Given the description of an element on the screen output the (x, y) to click on. 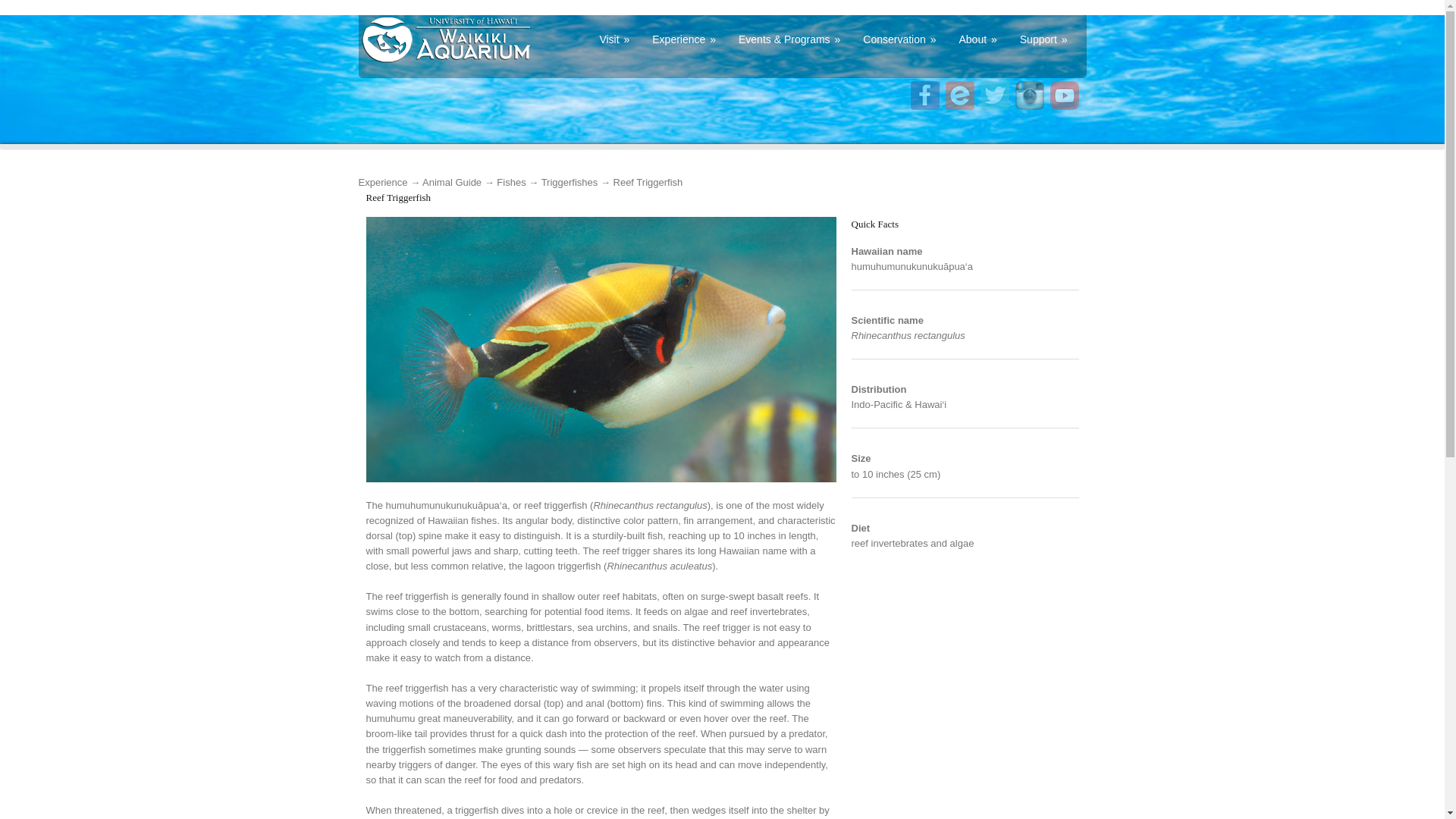
Go to Animal Guide. (451, 182)
Go to Experience. (382, 182)
Go to Fishes. (510, 182)
Go to Triggerfishes. (569, 182)
